Given the description of an element on the screen output the (x, y) to click on. 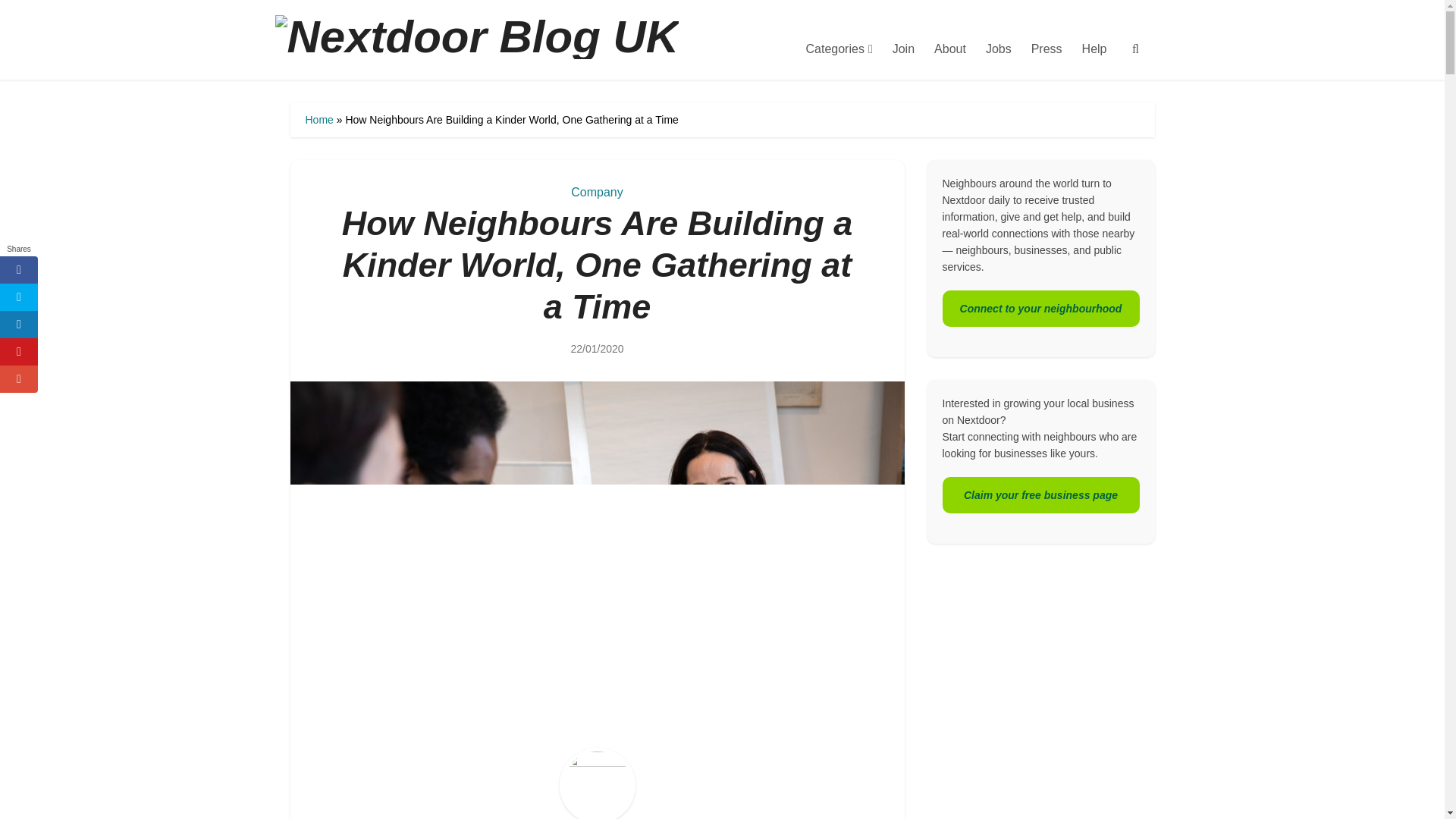
About (949, 48)
Press (1046, 48)
Categories (839, 48)
Help (1093, 48)
Nextdoor Blog UK (491, 53)
Jobs (998, 48)
Home (318, 119)
Company (596, 192)
Join (903, 48)
